Given the description of an element on the screen output the (x, y) to click on. 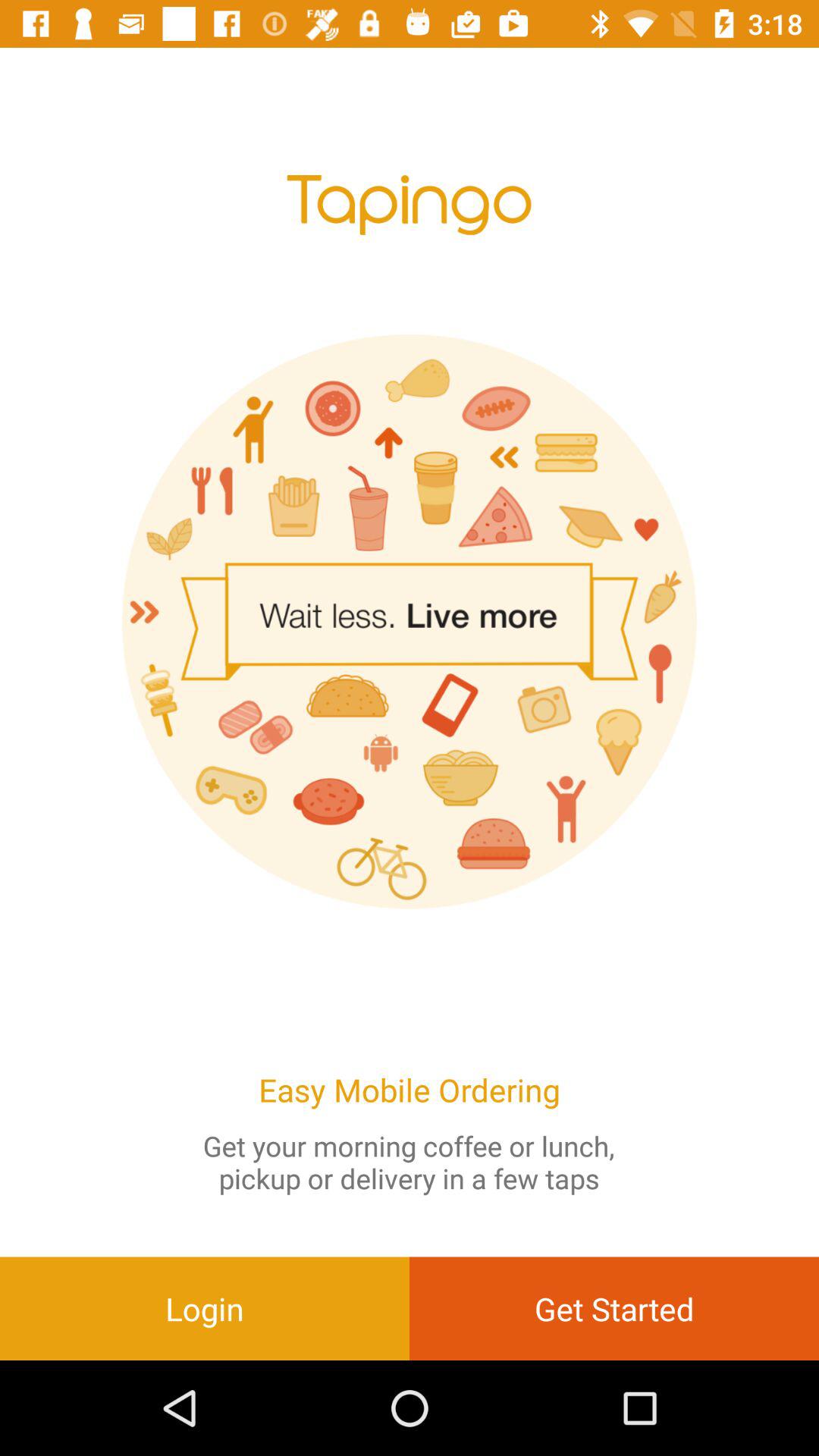
tap the icon below the get your morning item (614, 1308)
